Given the description of an element on the screen output the (x, y) to click on. 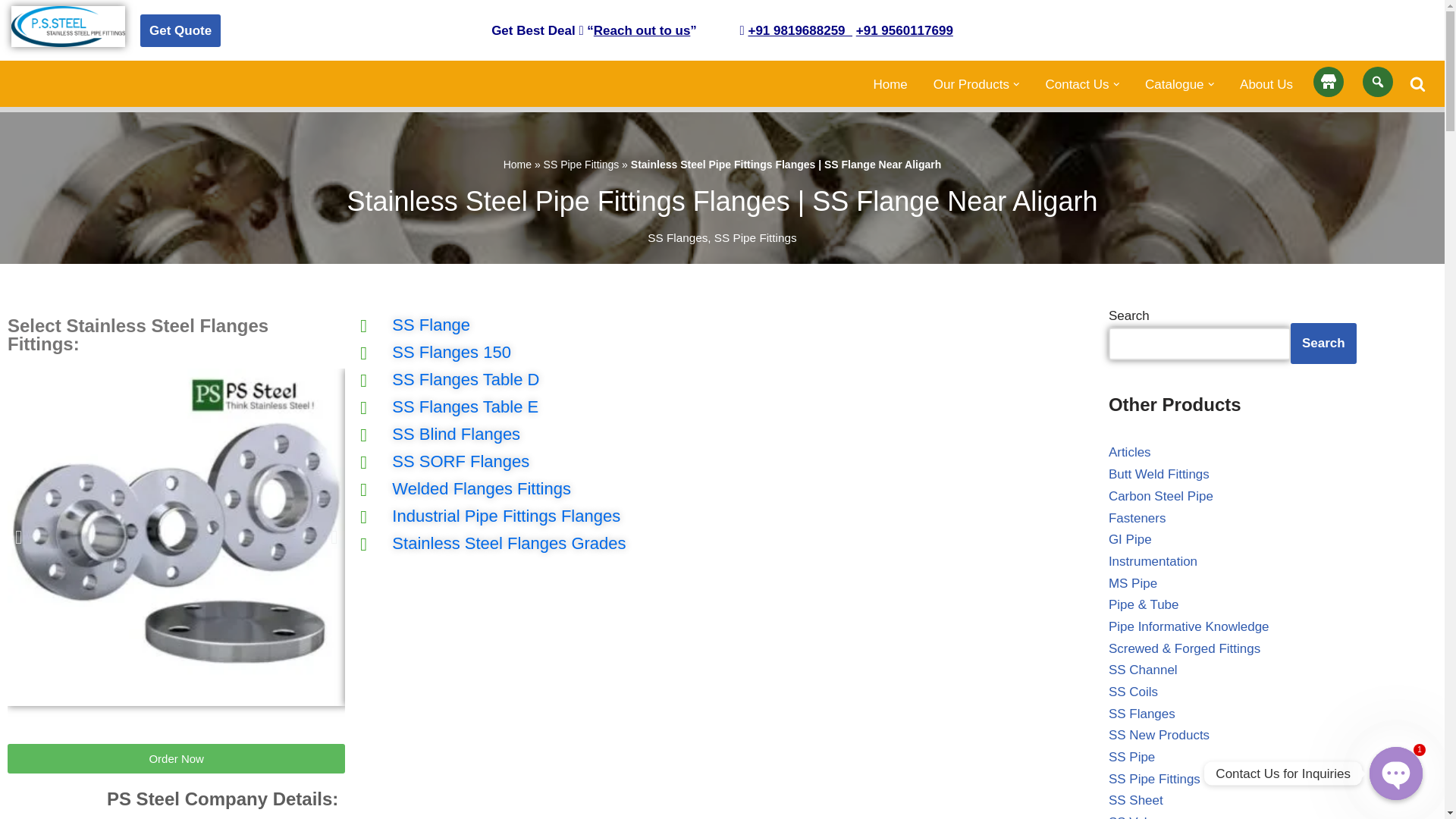
Get Quote (180, 30)
Shift-click to edit this widget. (722, 30)
Contact Us (1076, 83)
Skip to content (11, 31)
Catalogue (1174, 83)
Our Products (971, 83)
Home (889, 83)
About Us (1266, 83)
Reach out to us (642, 30)
